Given the description of an element on the screen output the (x, y) to click on. 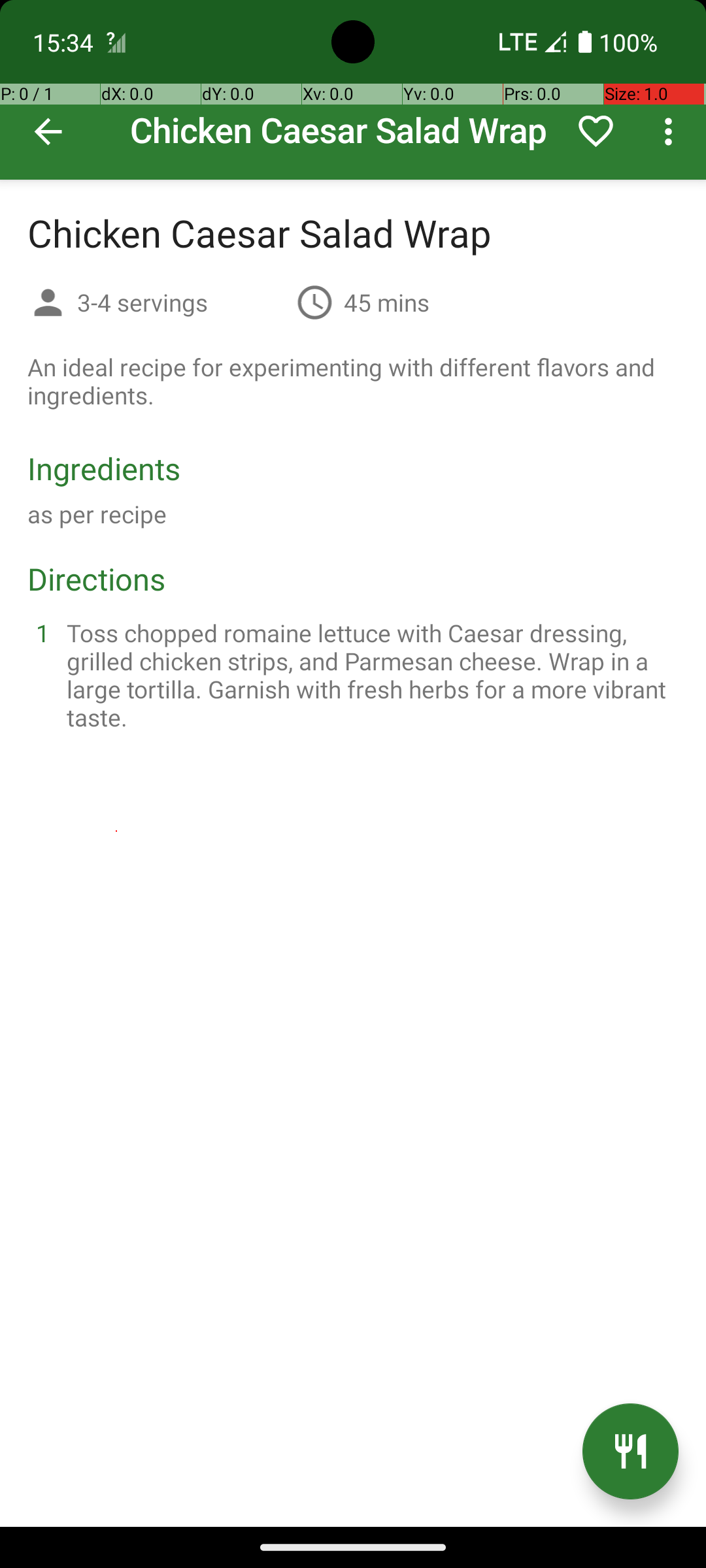
Toss chopped romaine lettuce with Caesar dressing, grilled chicken strips, and Parmesan cheese. Wrap in a large tortilla. Garnish with fresh herbs for a more vibrant taste. Element type: android.widget.TextView (368, 674)
